Given the description of an element on the screen output the (x, y) to click on. 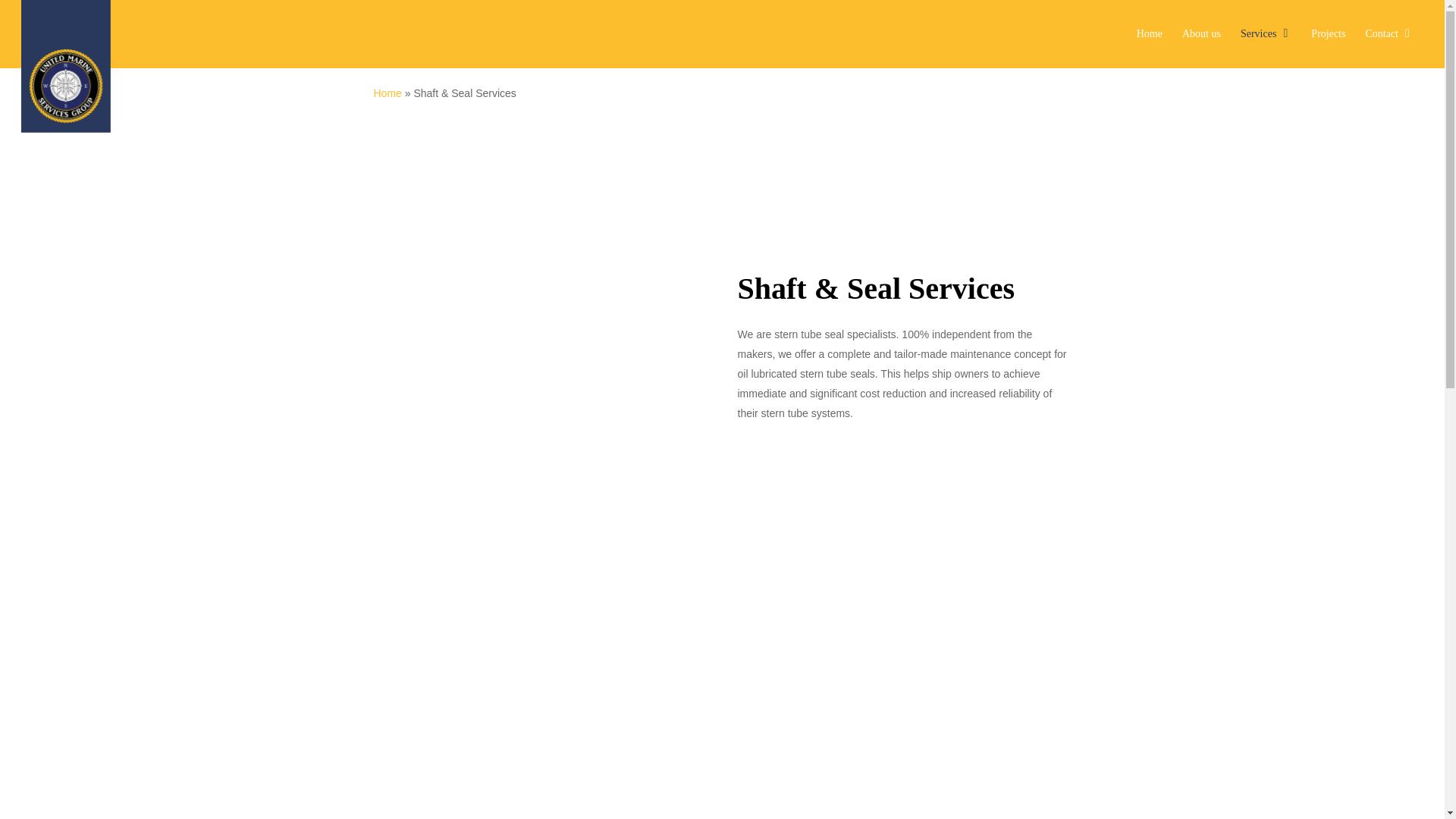
Services (1265, 33)
Home (1149, 33)
Home (386, 92)
Contact (1389, 33)
About us (1201, 33)
Projects (1328, 33)
